Given the description of an element on the screen output the (x, y) to click on. 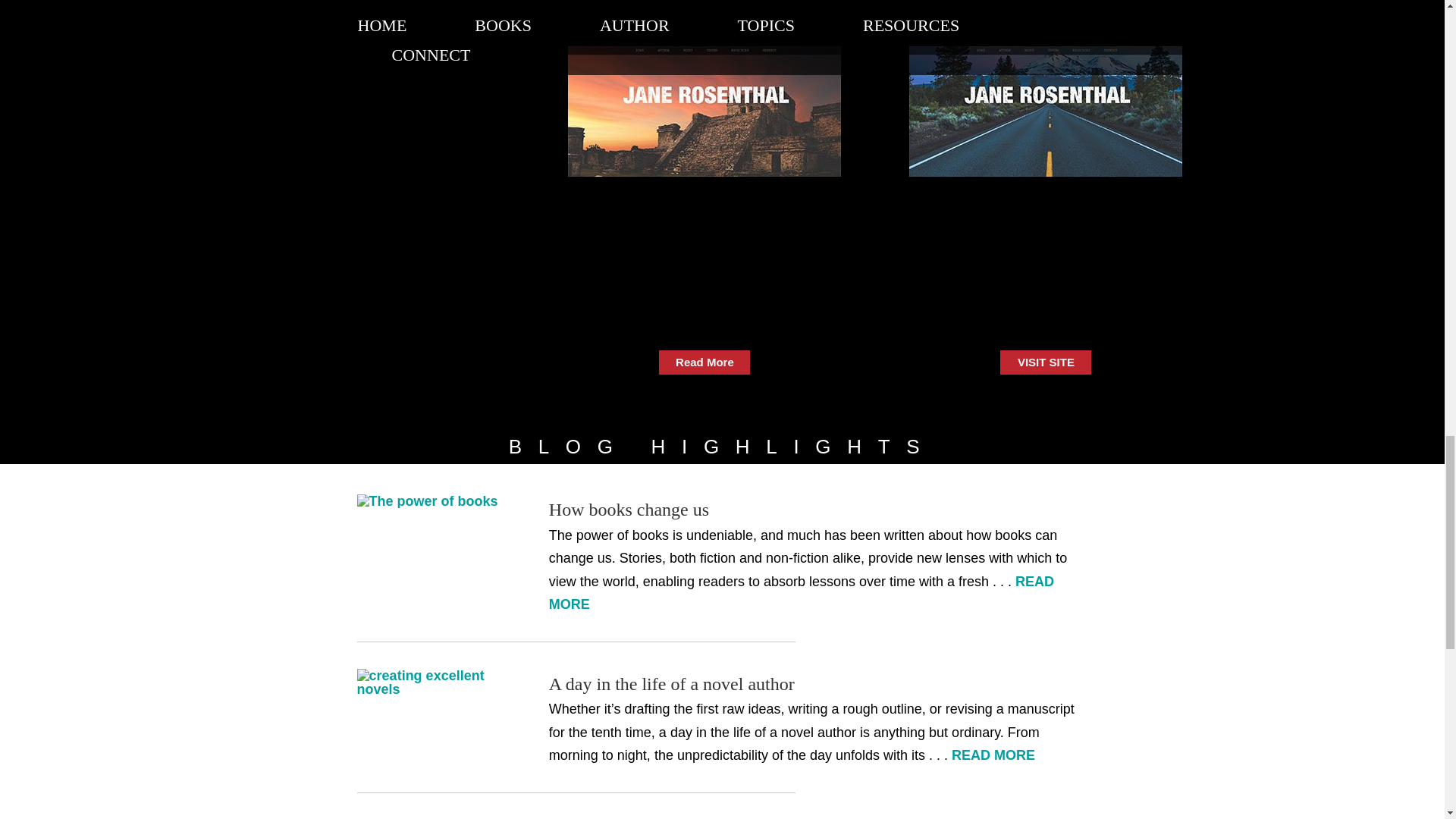
A day in the life of a novel author (434, 682)
How books change us (434, 500)
How books change us (628, 509)
A day in the life of a novel author (671, 683)
